Given the description of an element on the screen output the (x, y) to click on. 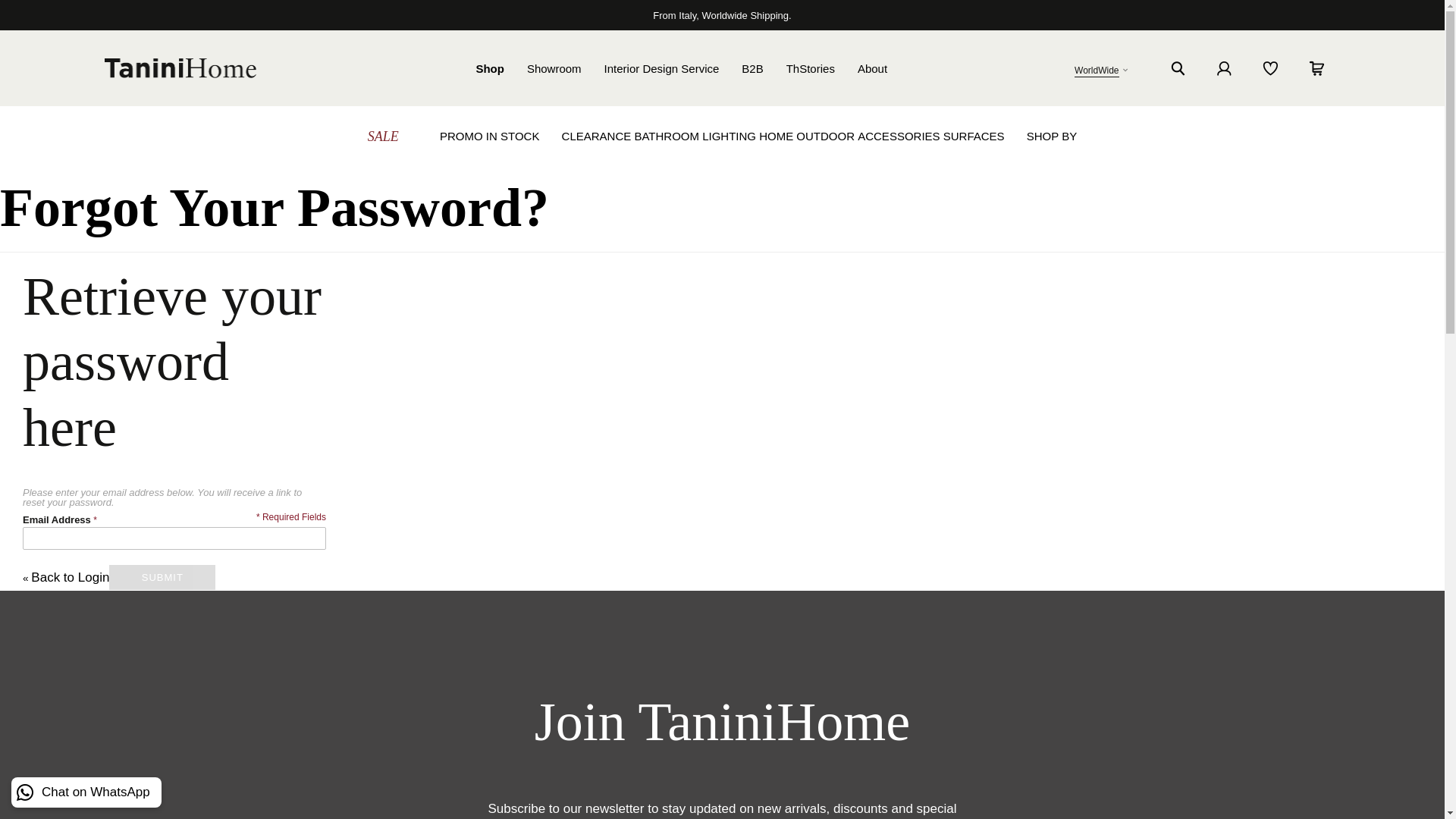
HOME (775, 136)
PROMO IN STOCK (488, 136)
LIGHTING (728, 136)
CLEARANCE (596, 136)
Shop (489, 68)
ThStories (810, 68)
From Italy, Worldwide Shipping. (721, 14)
SALE (383, 136)
BATHROOM (665, 136)
Showroom (553, 68)
